Given the description of an element on the screen output the (x, y) to click on. 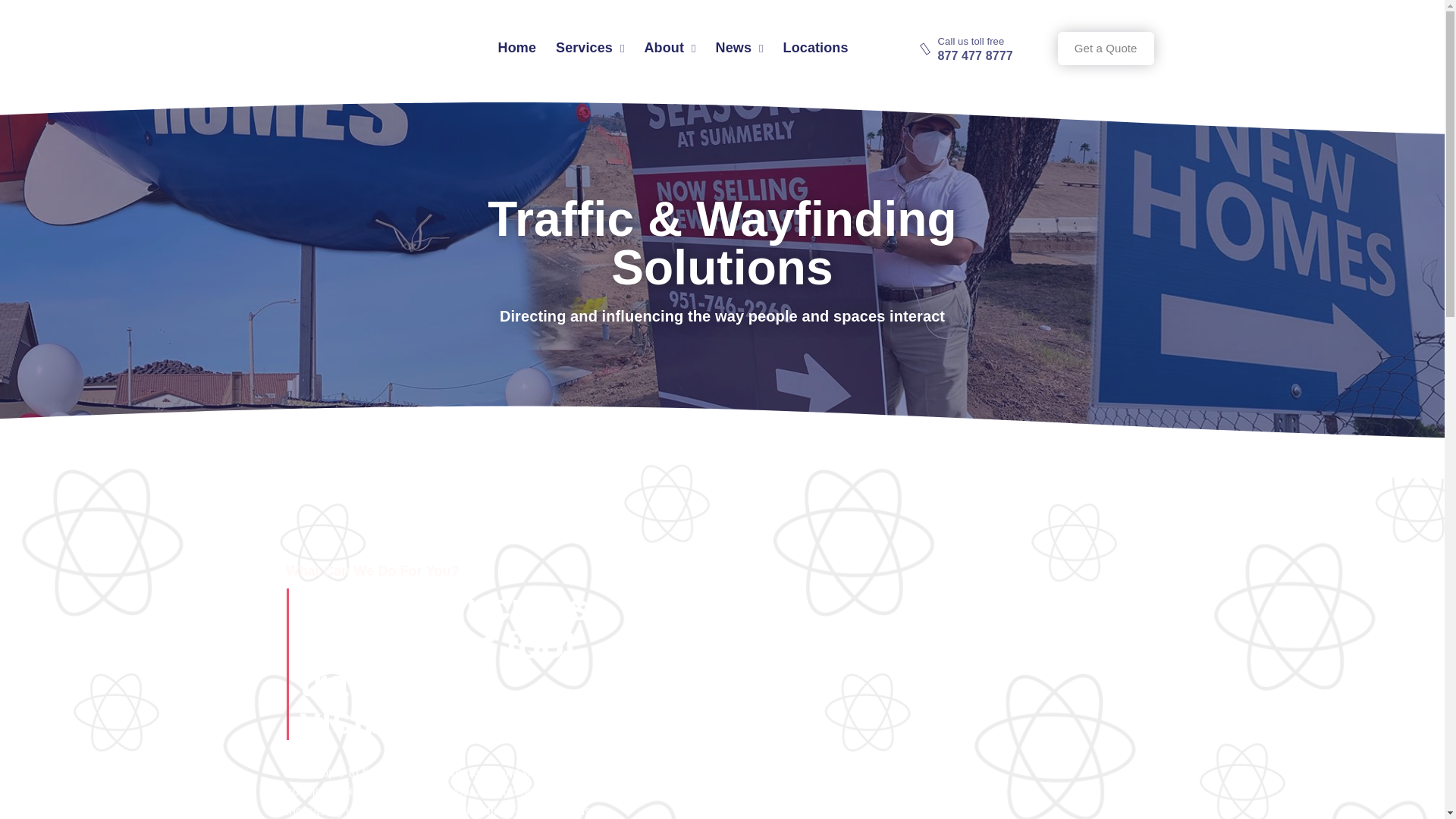
News (738, 48)
Services (588, 48)
Home (515, 48)
Locations (815, 48)
About (668, 48)
